Given the description of an element on the screen output the (x, y) to click on. 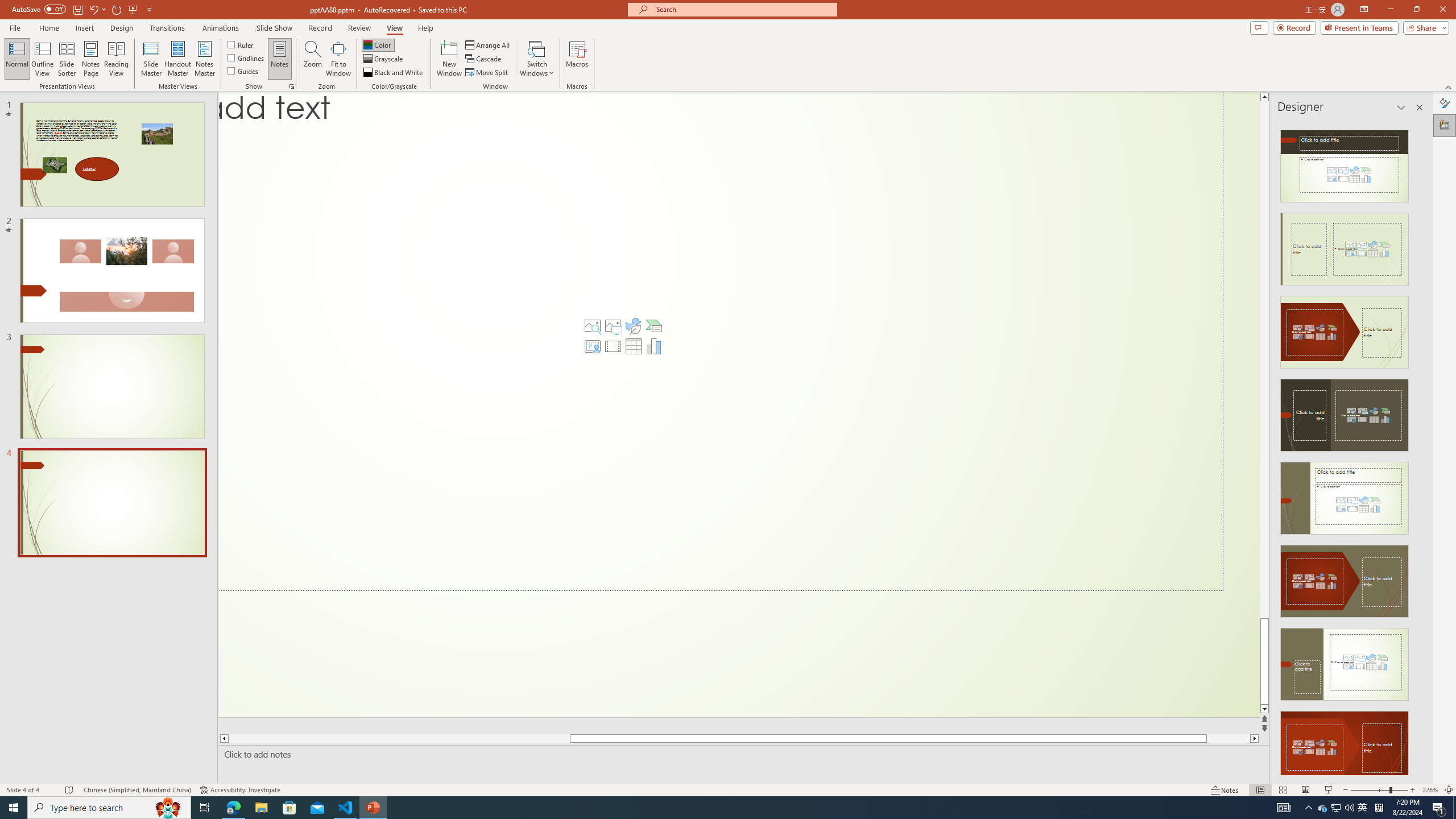
Move Split (487, 72)
Format Background (1444, 102)
Arrange All (488, 44)
Black and White (393, 72)
Notes (279, 58)
Insert Video (612, 346)
